Given the description of an element on the screen output the (x, y) to click on. 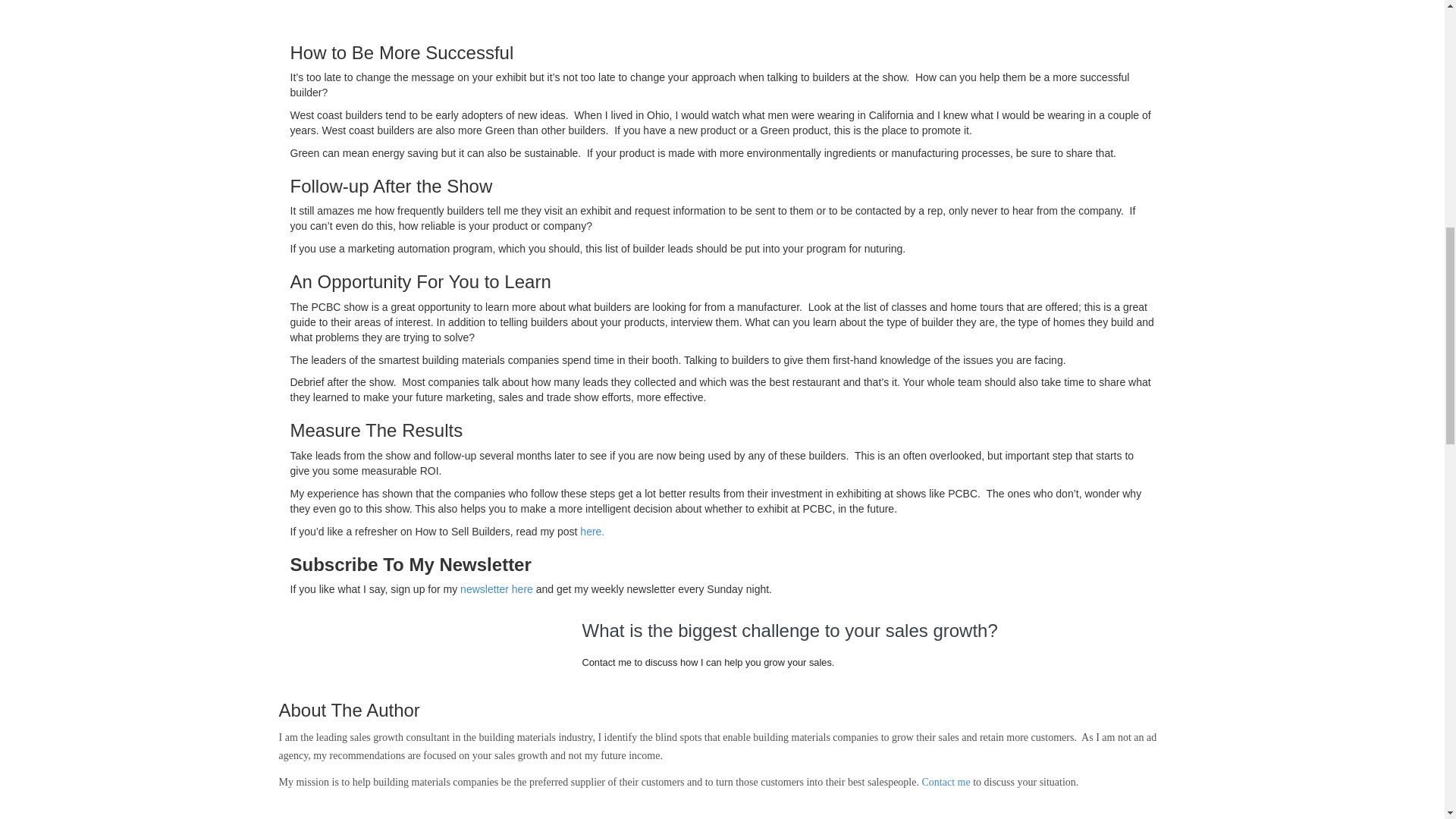
here. (591, 531)
Contact me (945, 781)
newsletter here (496, 589)
